Given the description of an element on the screen output the (x, y) to click on. 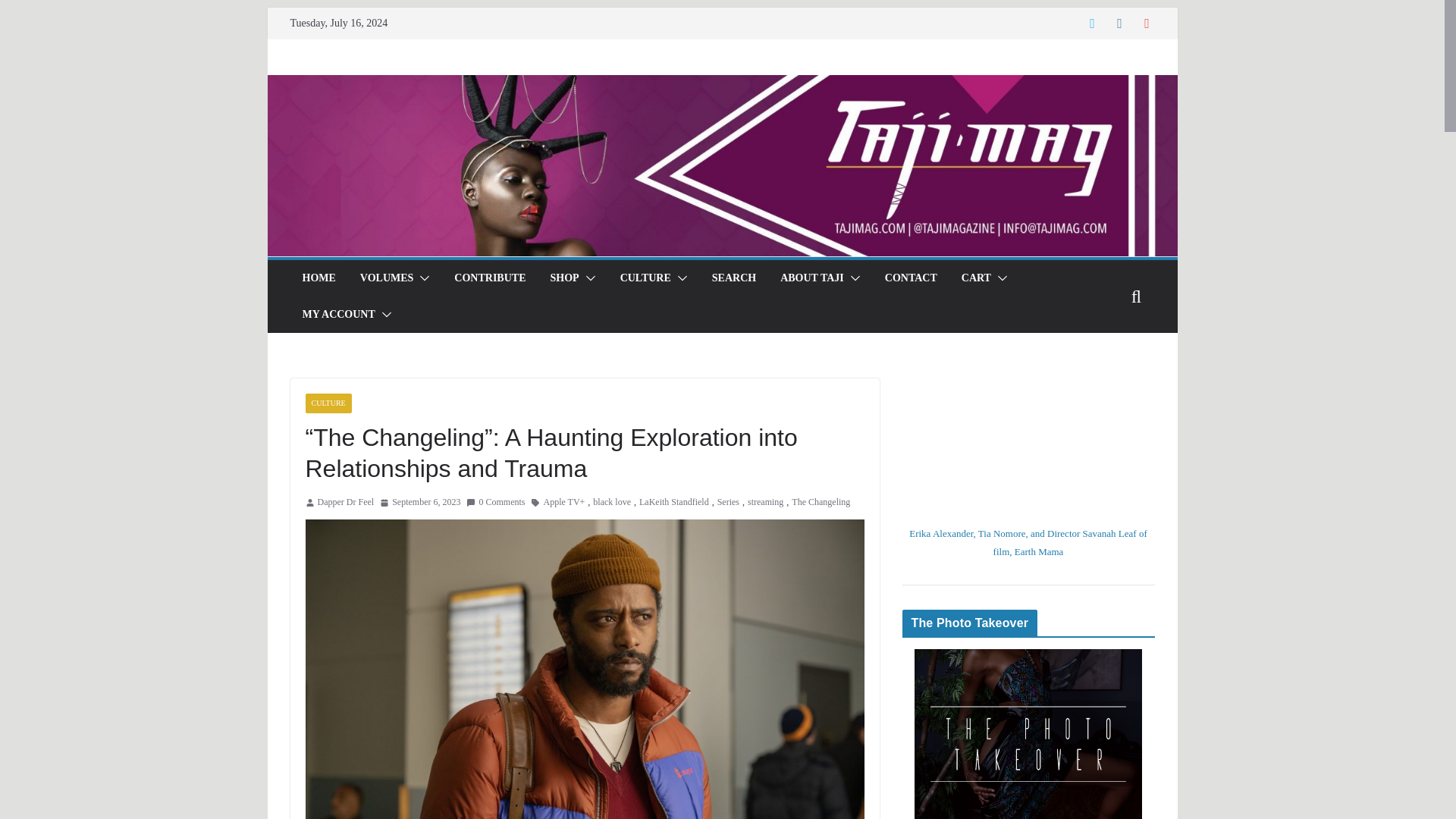
HOME (317, 278)
10:59 pm (420, 502)
CULTURE (645, 278)
VOLUMES (386, 278)
MY ACCOUNT (337, 314)
CONTRIBUTE (489, 278)
Taji Mag (721, 84)
SEARCH (733, 278)
black love (611, 502)
CULTURE (327, 403)
Dapper Dr Feel (345, 502)
Dapper Dr Feel (345, 502)
September 6, 2023 (420, 502)
CART (975, 278)
